Given the description of an element on the screen output the (x, y) to click on. 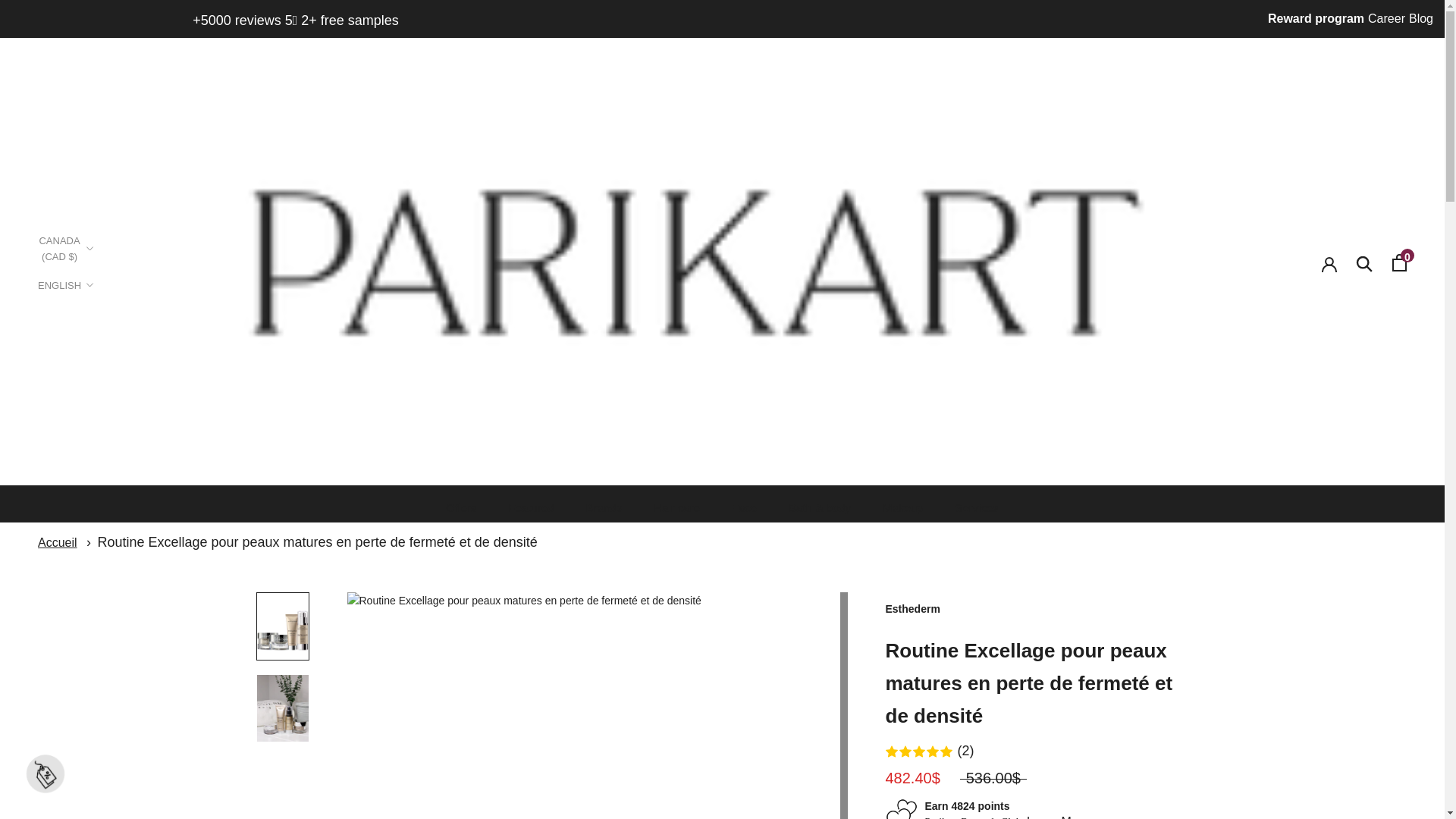
Home (57, 542)
